Given the description of an element on the screen output the (x, y) to click on. 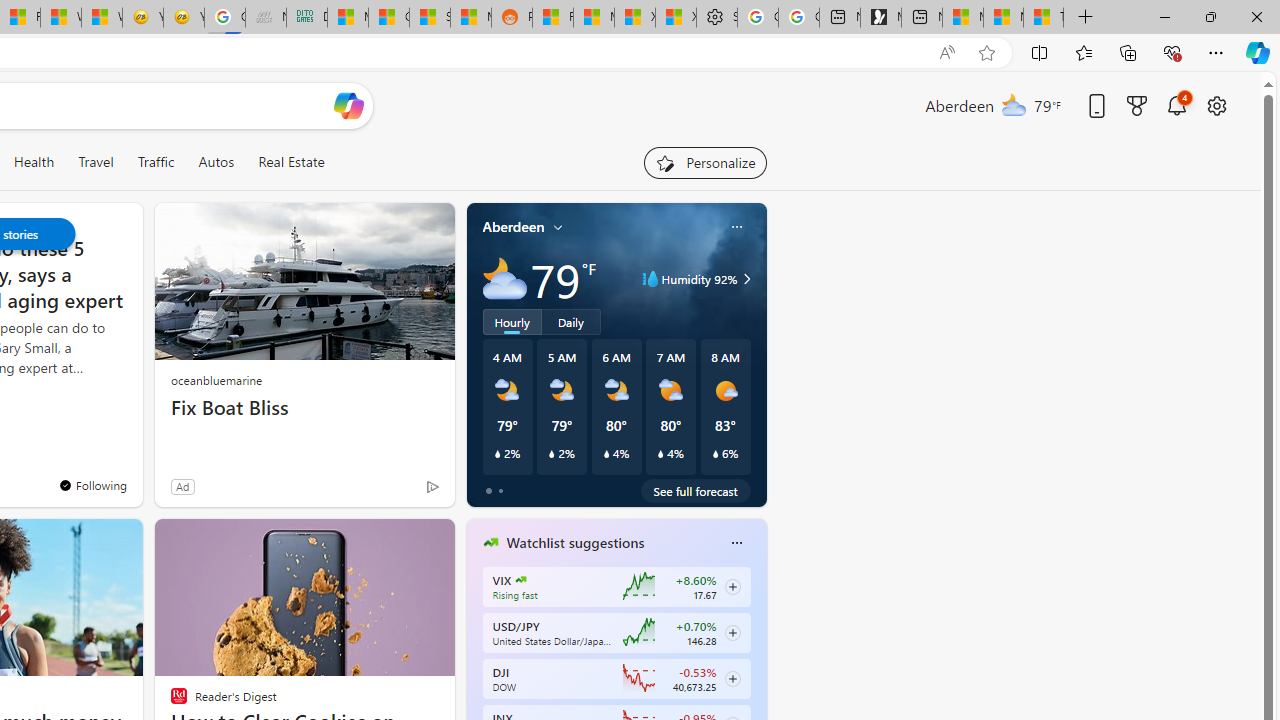
previous (476, 670)
tab-0 (488, 490)
Humidity 92% (744, 278)
next (756, 670)
Autos (216, 162)
Personalize your feed" (704, 162)
Aberdeen (513, 227)
